Given the description of an element on the screen output the (x, y) to click on. 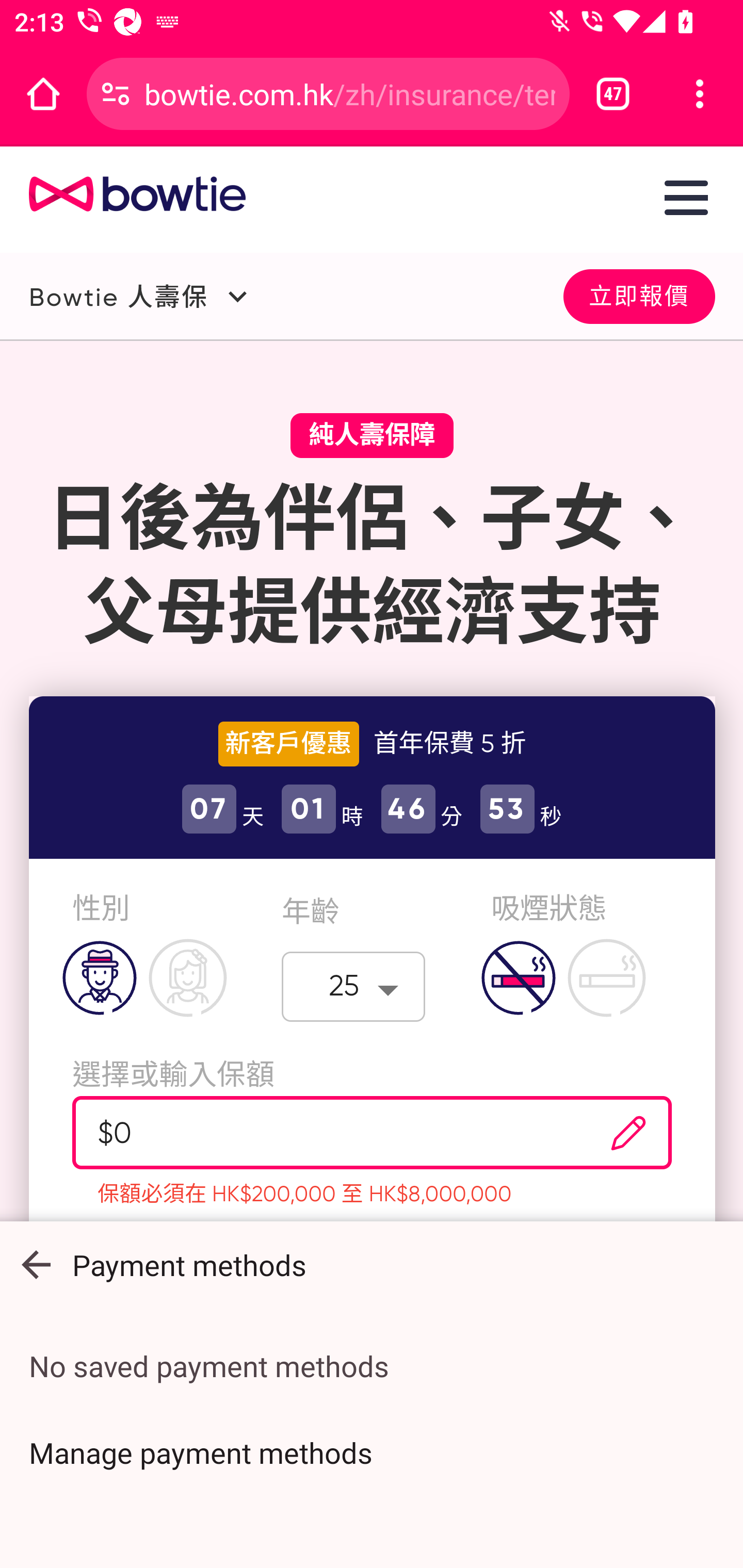
Open the home page (43, 93)
Connection is secure (115, 93)
Switch or close tabs (612, 93)
Customize and control Google Chrome (699, 93)
www.bowtie.com (122, 195)
立即報價 (638, 295)
25 (353, 986)
$0 (321, 1132)
Show keyboard Payment methods (371, 1264)
Show keyboard (36, 1264)
Manage payment methods (371, 1452)
